Given the description of an element on the screen output the (x, y) to click on. 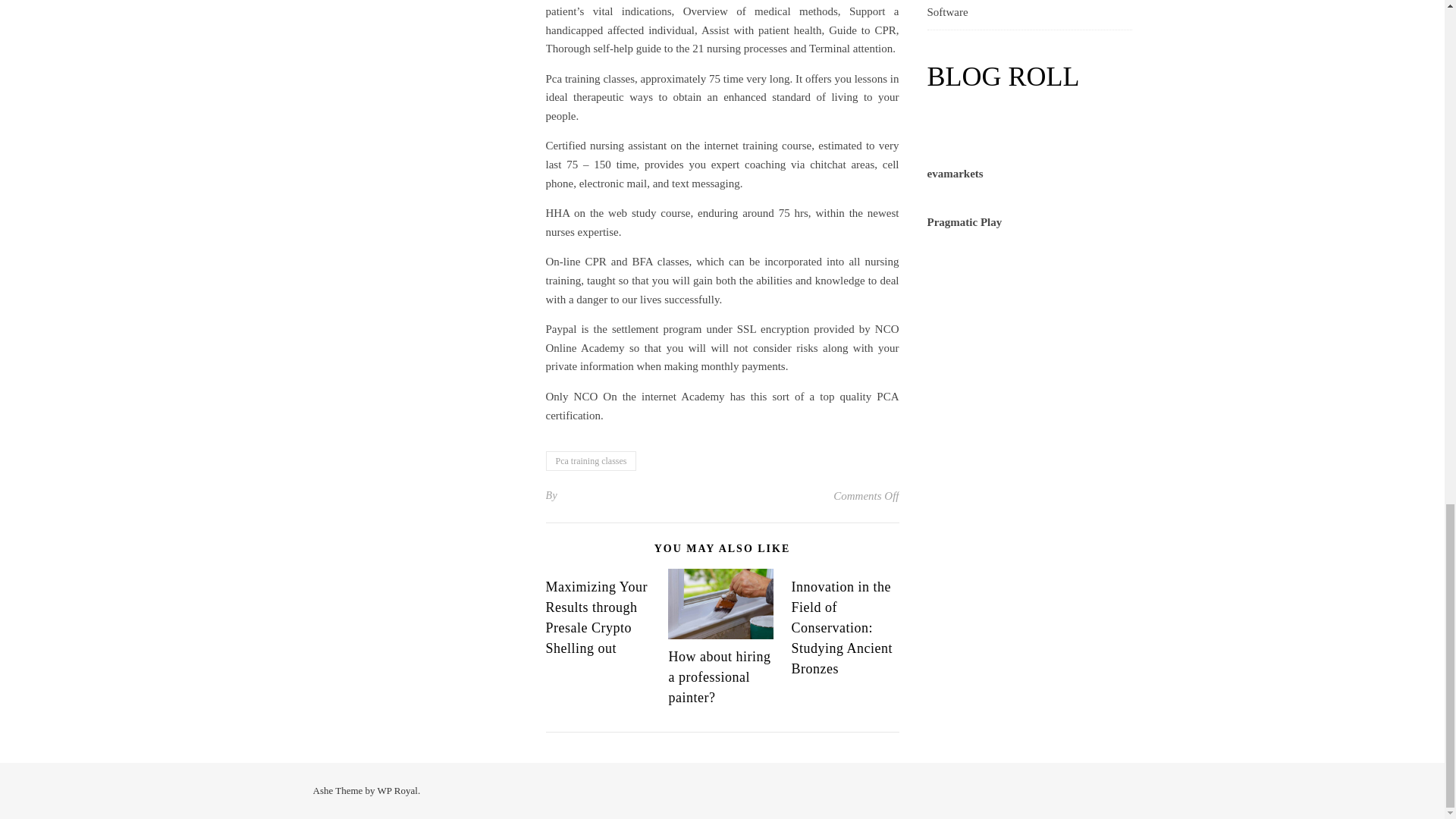
Maximizing Your Results through Presale Crypto Shelling out (596, 617)
How about hiring a professional painter? (719, 677)
Pca training classes (591, 460)
